Given the description of an element on the screen output the (x, y) to click on. 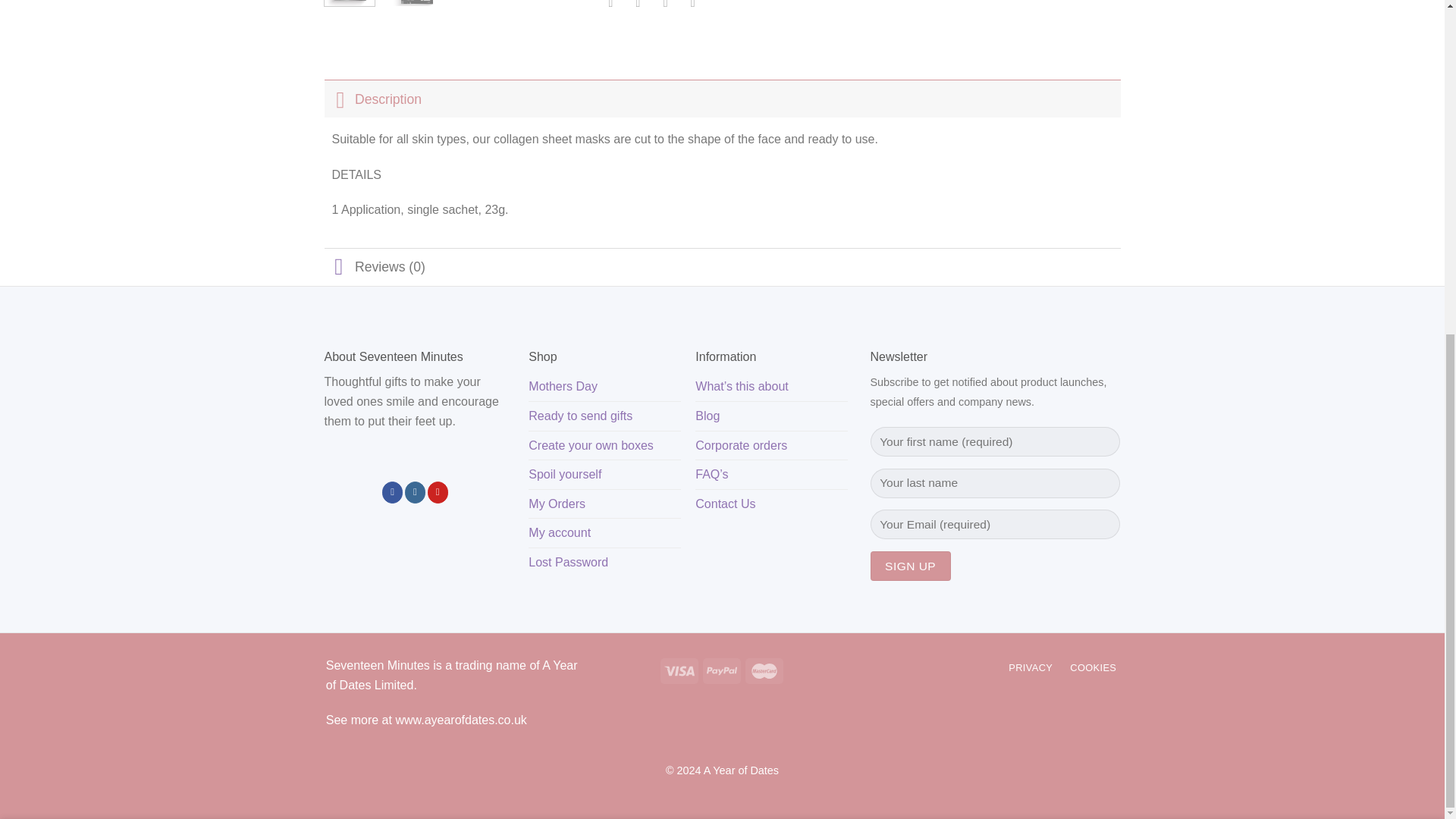
Follow on Facebook (392, 491)
Sign Up (910, 565)
Follow on Pinterest (438, 491)
Follow on Instagram (414, 491)
Share on Twitter (638, 8)
Share on Facebook (610, 8)
Email to a Friend (665, 8)
Share on LinkedIn (691, 8)
